Given the description of an element on the screen output the (x, y) to click on. 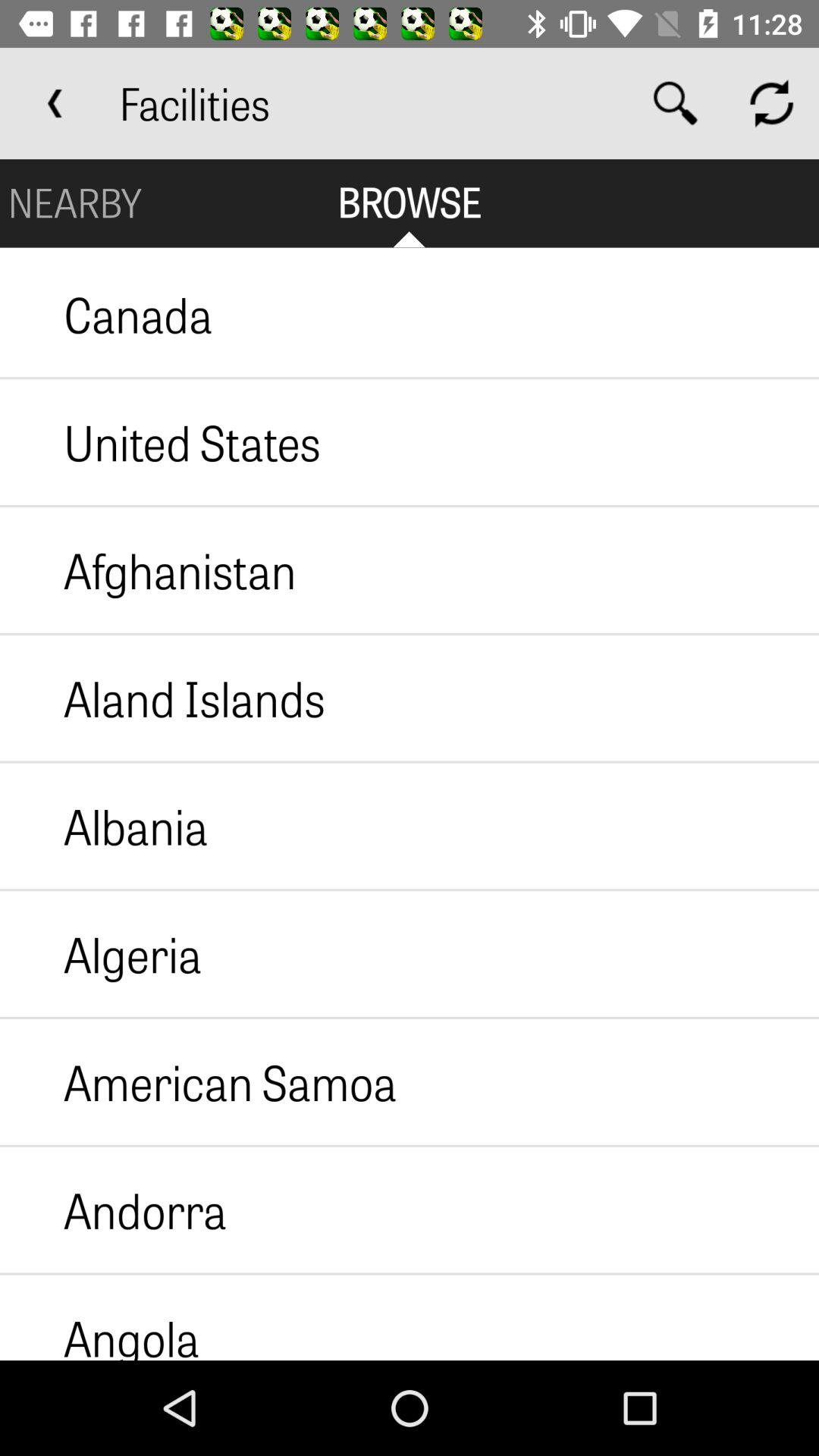
tap the app to the left of facilities (55, 103)
